Given the description of an element on the screen output the (x, y) to click on. 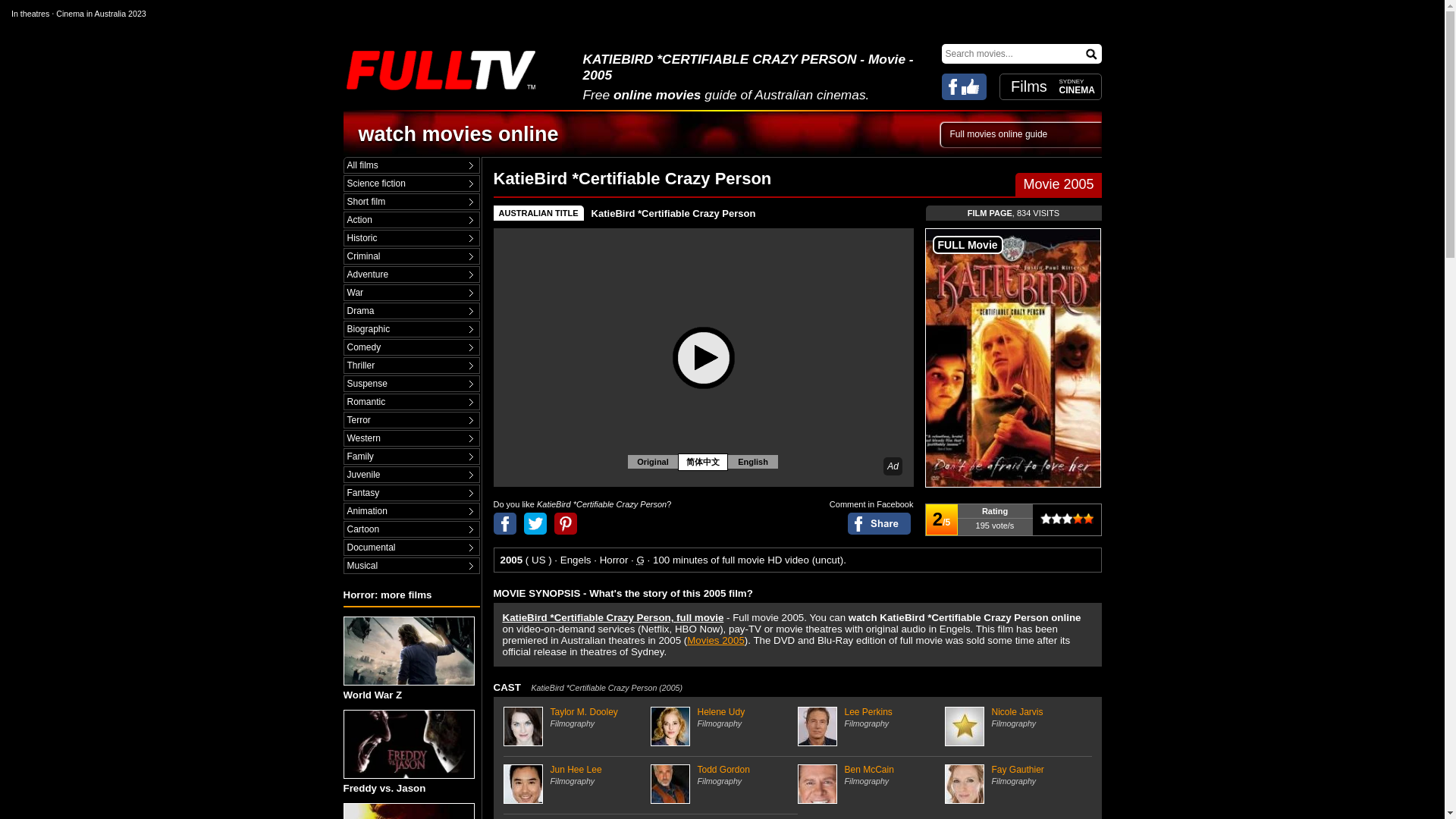
Romantic (411, 401)
Musical (411, 565)
FULLTV in Facebook (964, 86)
Jeepers Creepers 3: Cathedral, movie (408, 811)
All free movies (411, 165)
Comedy (411, 346)
Juvenile (411, 474)
World War Z, movie (408, 650)
War (411, 292)
Cinema in Australia 2023 (100, 13)
Western (411, 437)
All films (411, 165)
Cartoon (411, 529)
Action (411, 219)
Historic (411, 237)
